Given the description of an element on the screen output the (x, y) to click on. 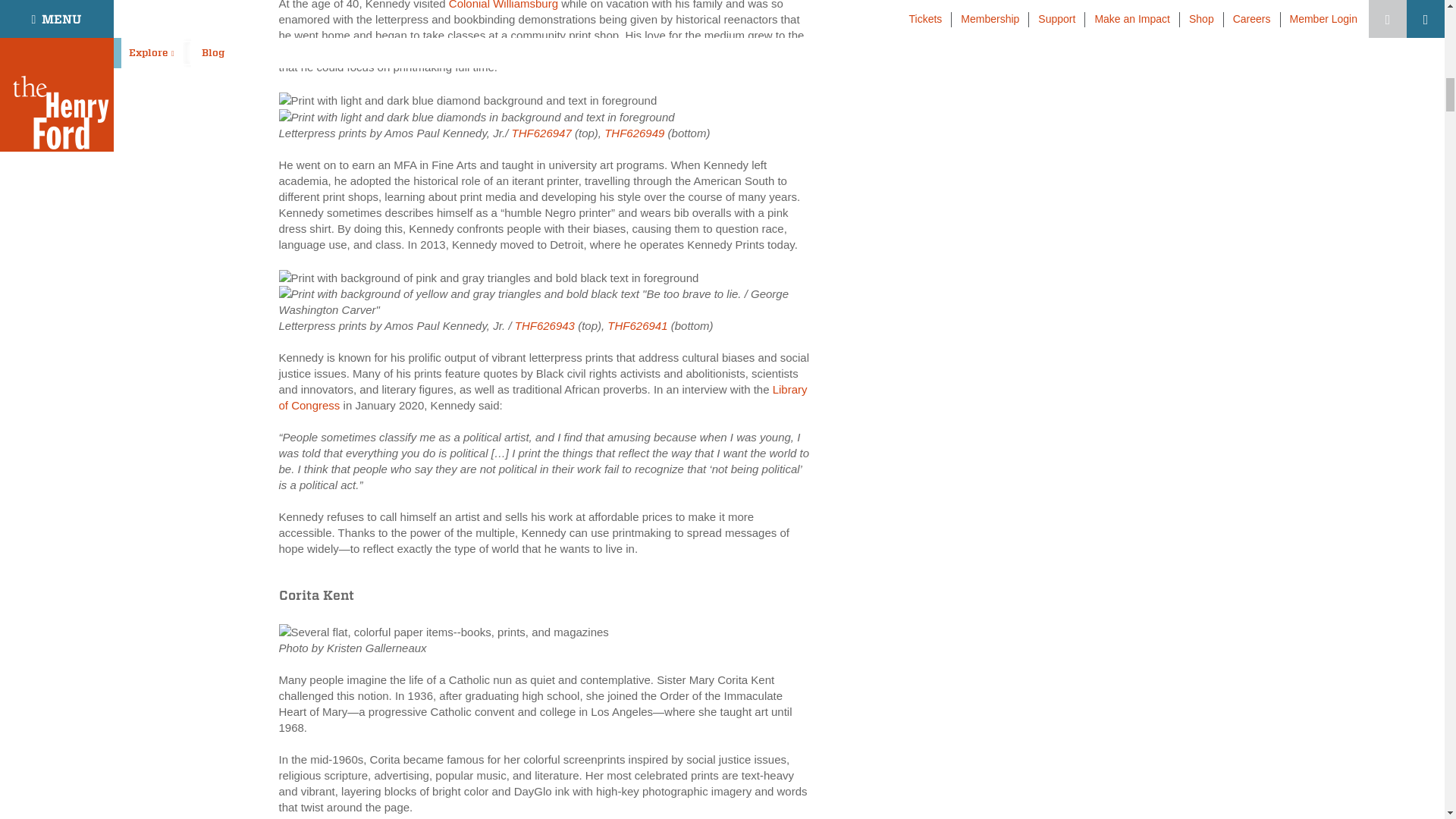
Colonial Williamsburg website (502, 4)
Library of Congress (543, 397)
